Given the description of an element on the screen output the (x, y) to click on. 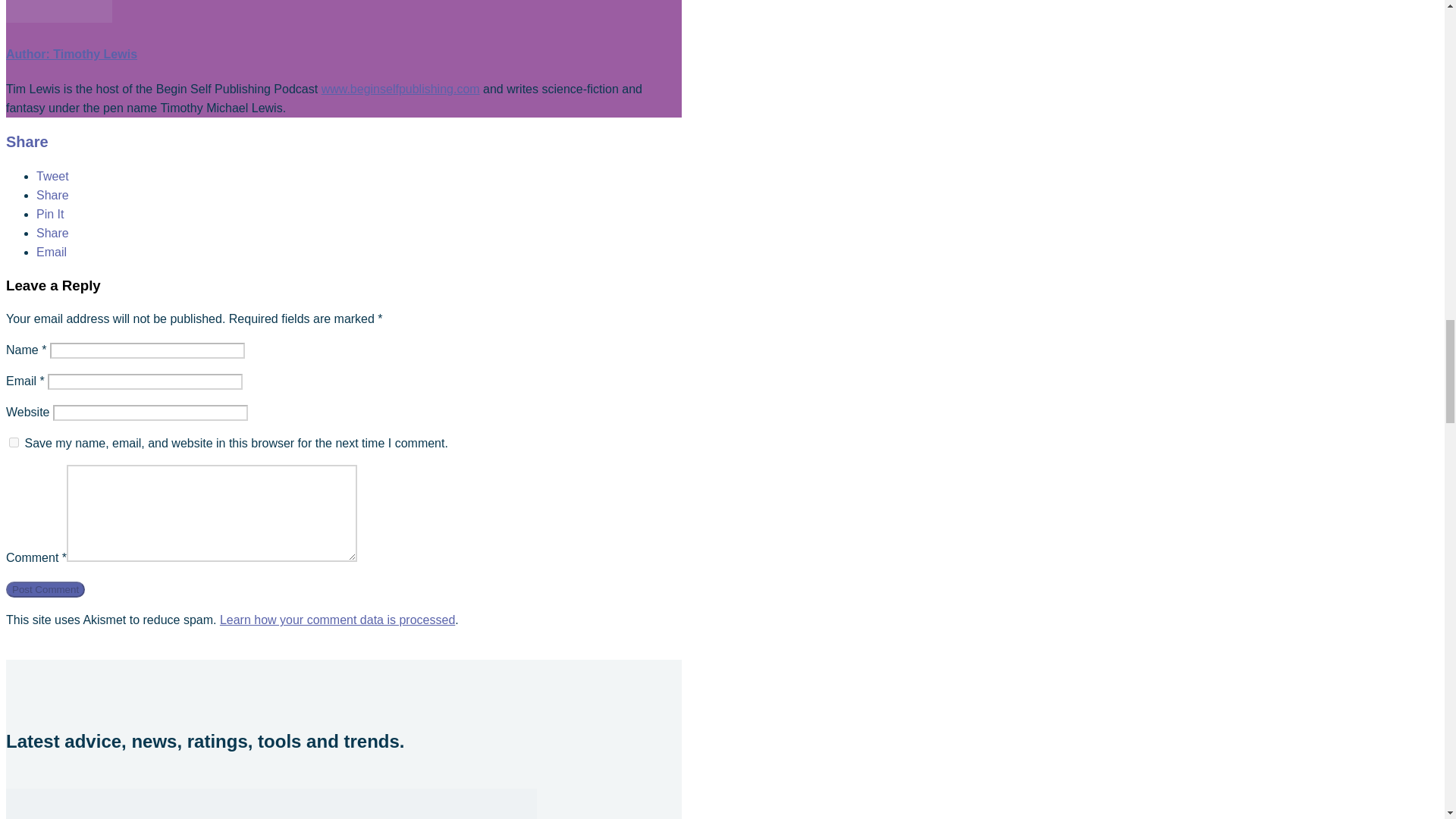
Visit Author Page (70, 53)
yes (13, 442)
Visit Author Page (58, 18)
Post Comment (44, 589)
